Given the description of an element on the screen output the (x, y) to click on. 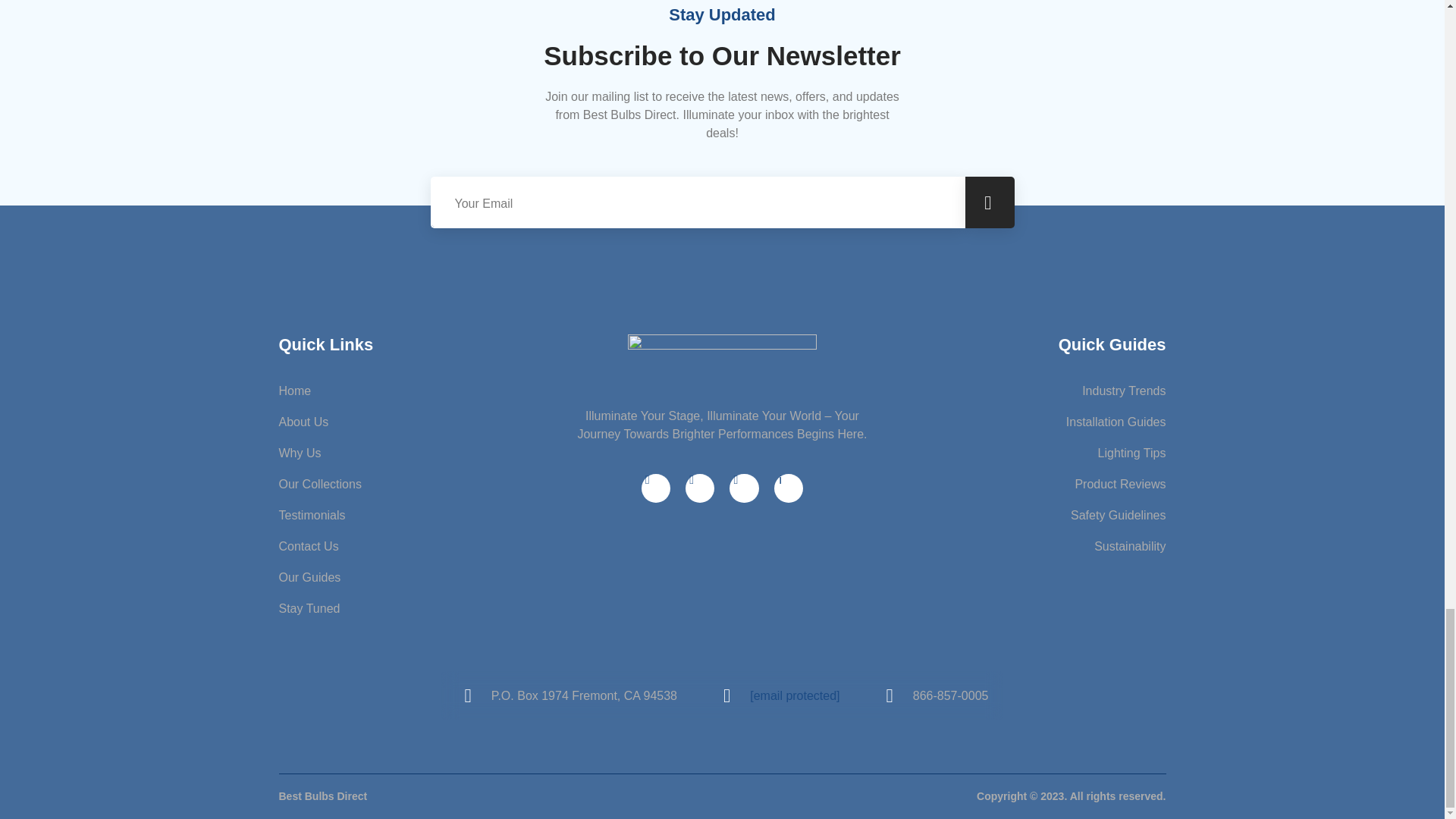
Contact Us (427, 546)
Testimonials (427, 515)
Our Guides (427, 577)
Why Us (427, 453)
Home (427, 391)
About Us (427, 422)
Our Collections (427, 484)
